Given the description of an element on the screen output the (x, y) to click on. 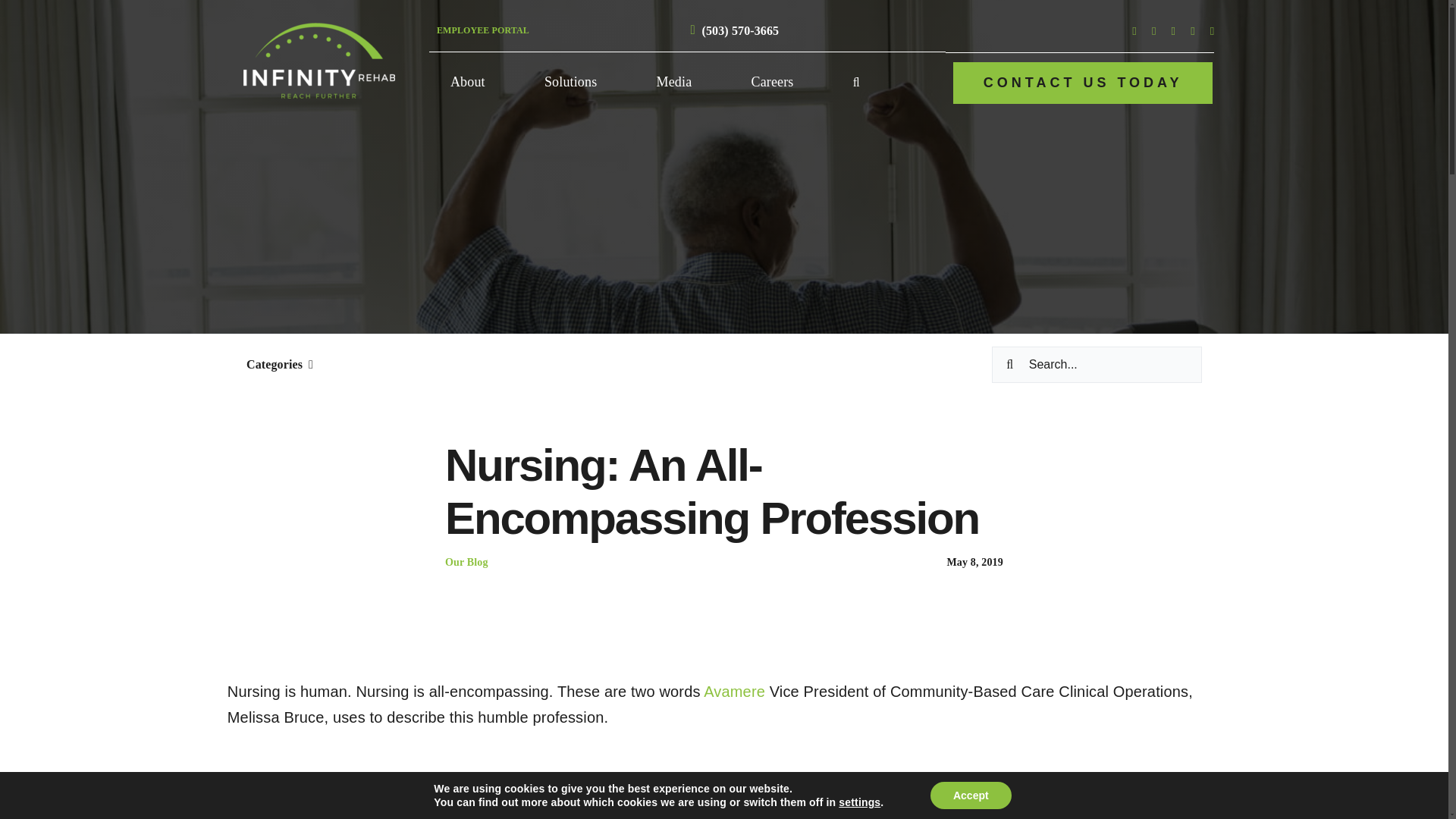
EMPLOYEE PORTAL (483, 30)
Careers (773, 83)
Media (674, 83)
About (467, 83)
Our Blog (466, 562)
Solutions (570, 83)
